Given the description of an element on the screen output the (x, y) to click on. 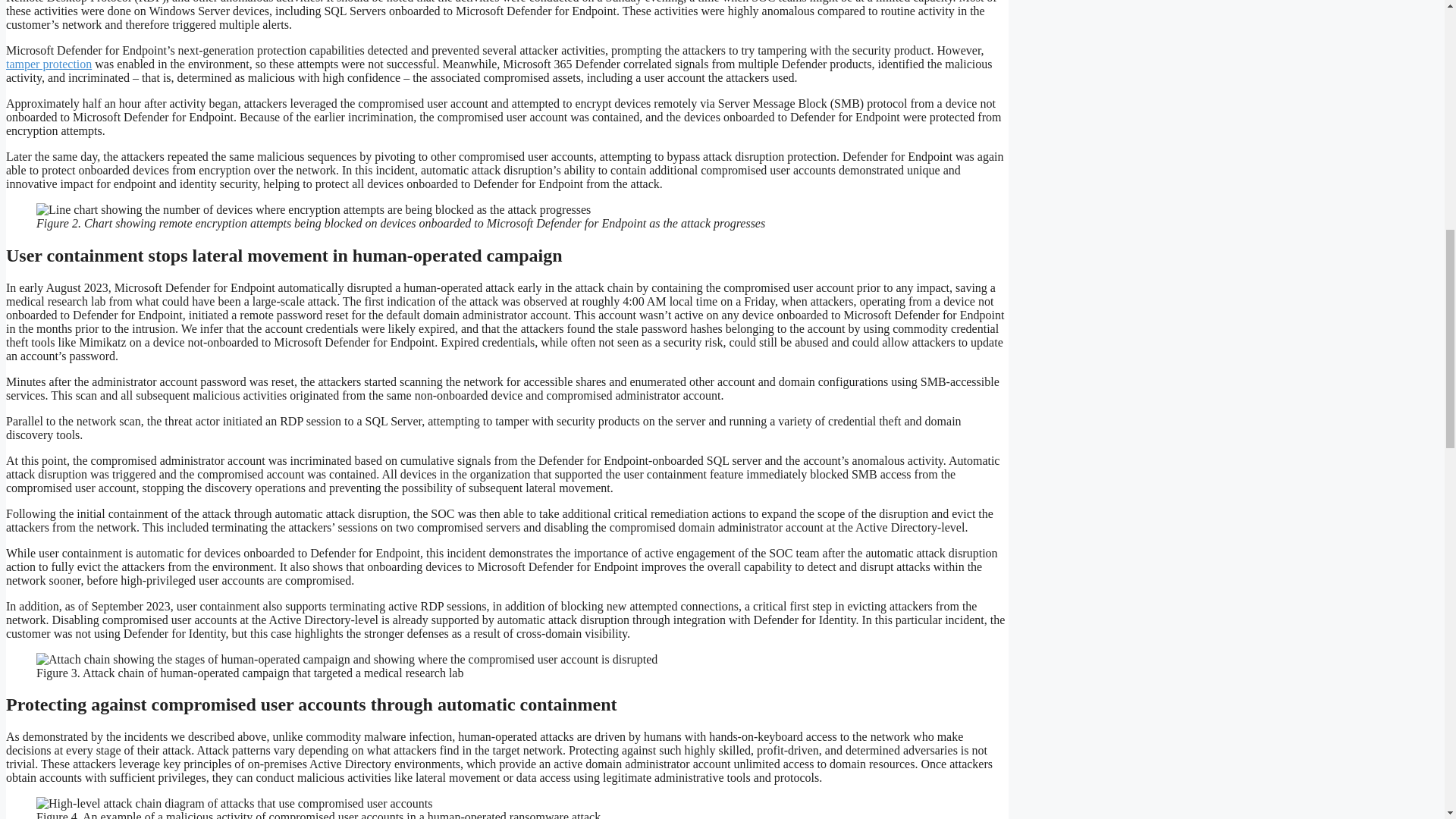
tamper protection (48, 63)
Scroll back to top (1406, 720)
